Given the description of an element on the screen output the (x, y) to click on. 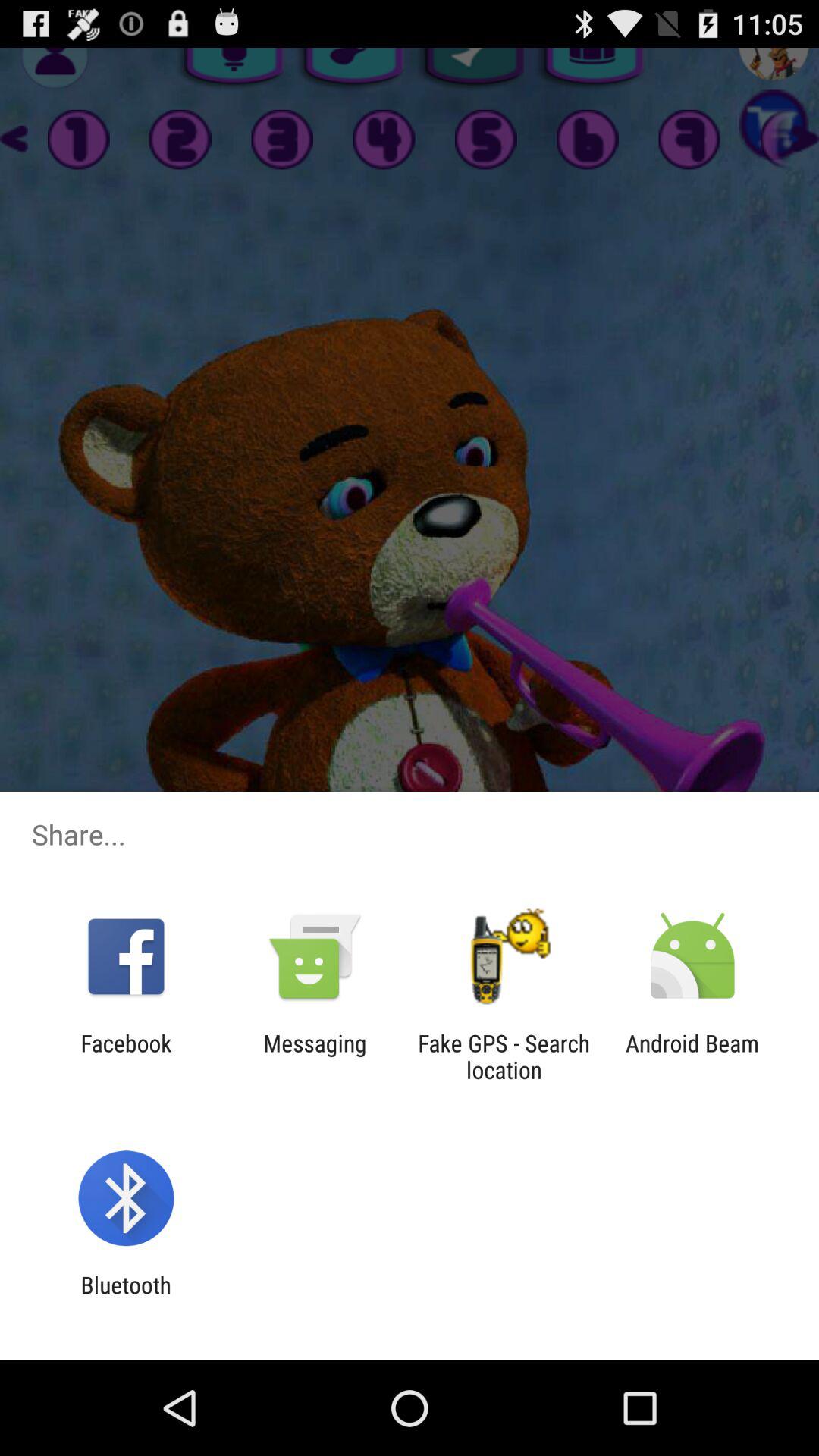
swipe to the bluetooth (125, 1298)
